Given the description of an element on the screen output the (x, y) to click on. 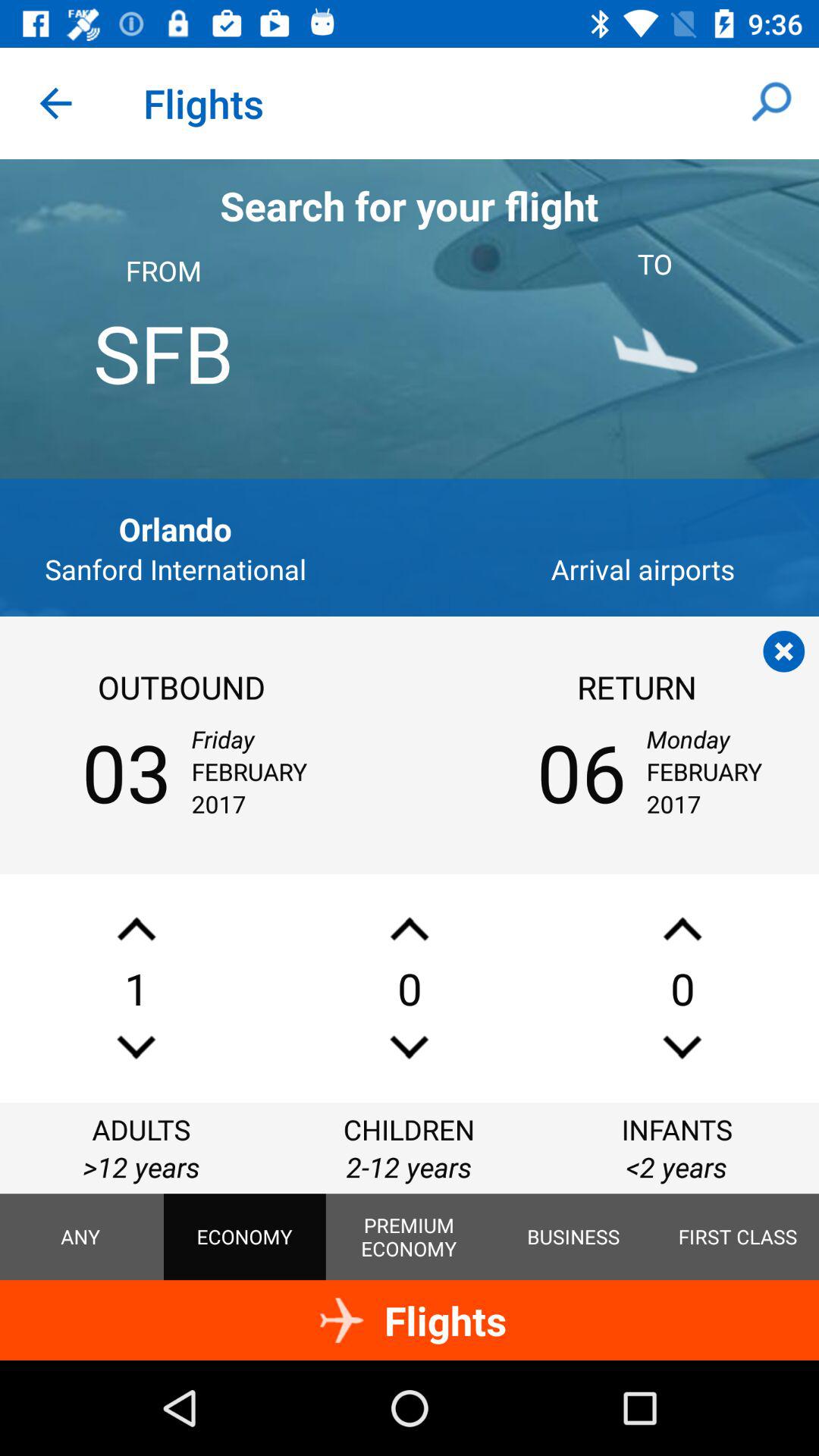
add adult passenger (136, 928)
